Given the description of an element on the screen output the (x, y) to click on. 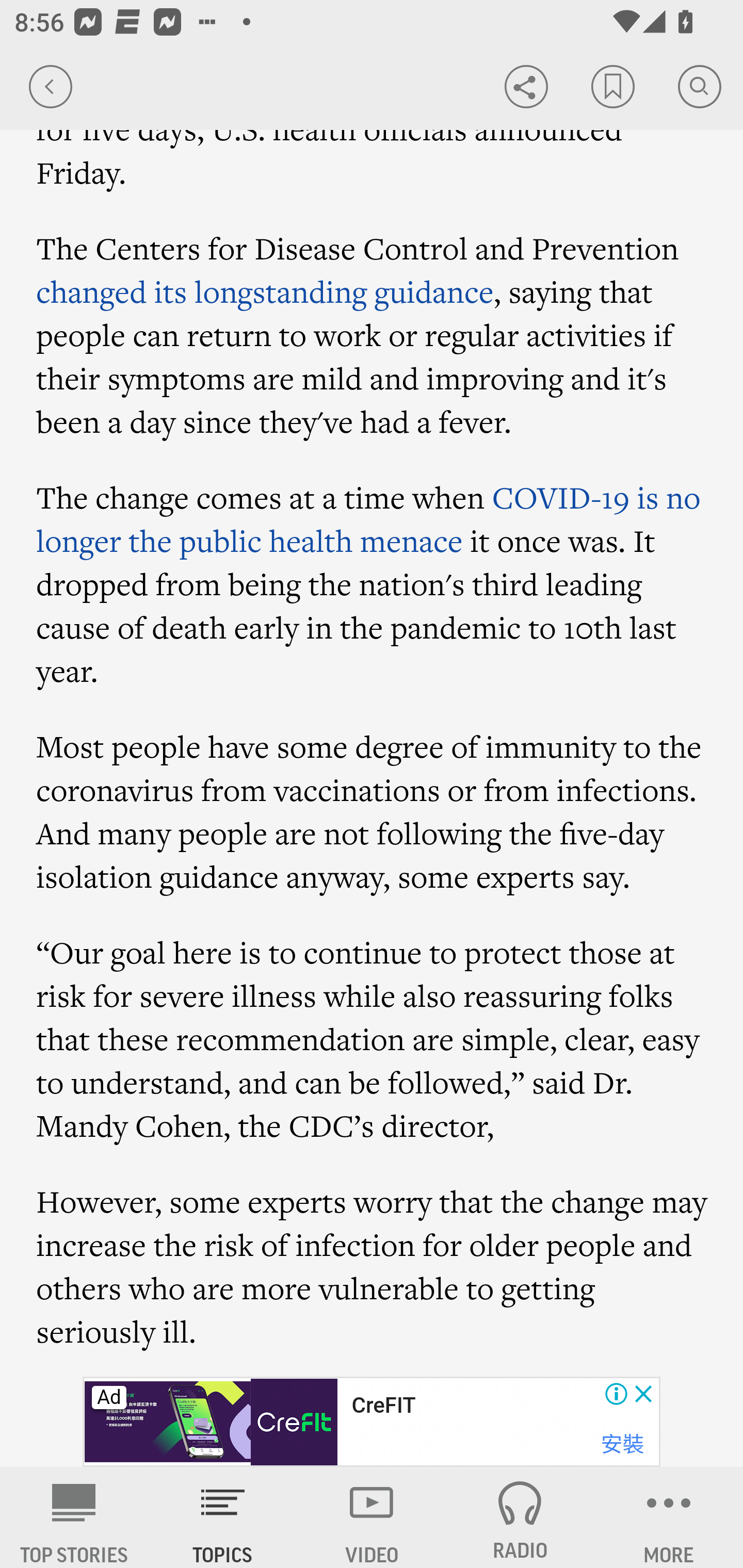
changed its longstanding guidance (265, 291)
COVID-19 is no longer the public health menace (369, 519)
CreFIT (382, 1405)
安裝 (621, 1444)
AP News TOP STORIES (74, 1517)
TOPICS (222, 1517)
VIDEO (371, 1517)
RADIO (519, 1517)
MORE (668, 1517)
